Given the description of an element on the screen output the (x, y) to click on. 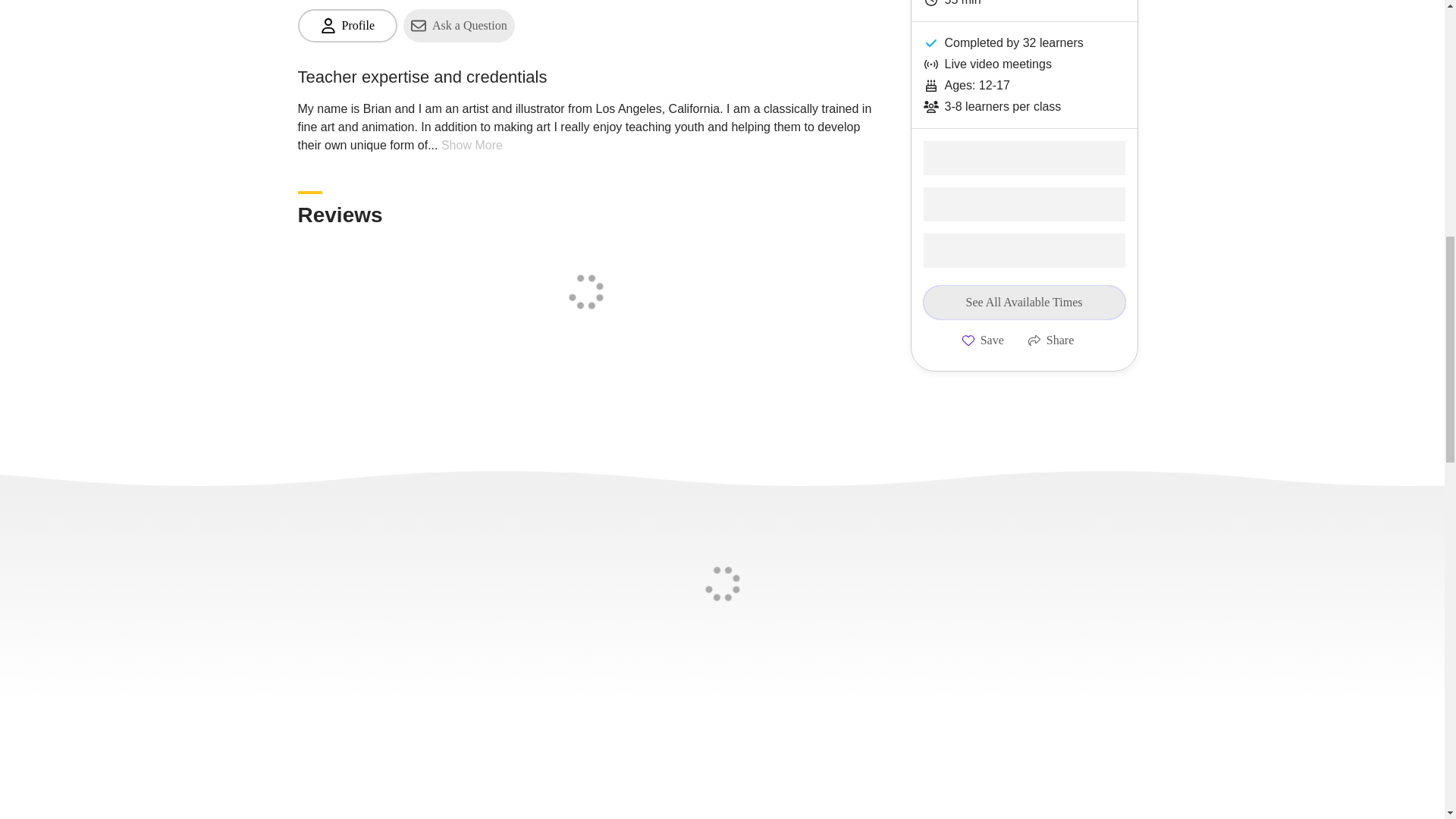
Show More (471, 145)
Profile (347, 25)
Ask a Question (459, 25)
